Given the description of an element on the screen output the (x, y) to click on. 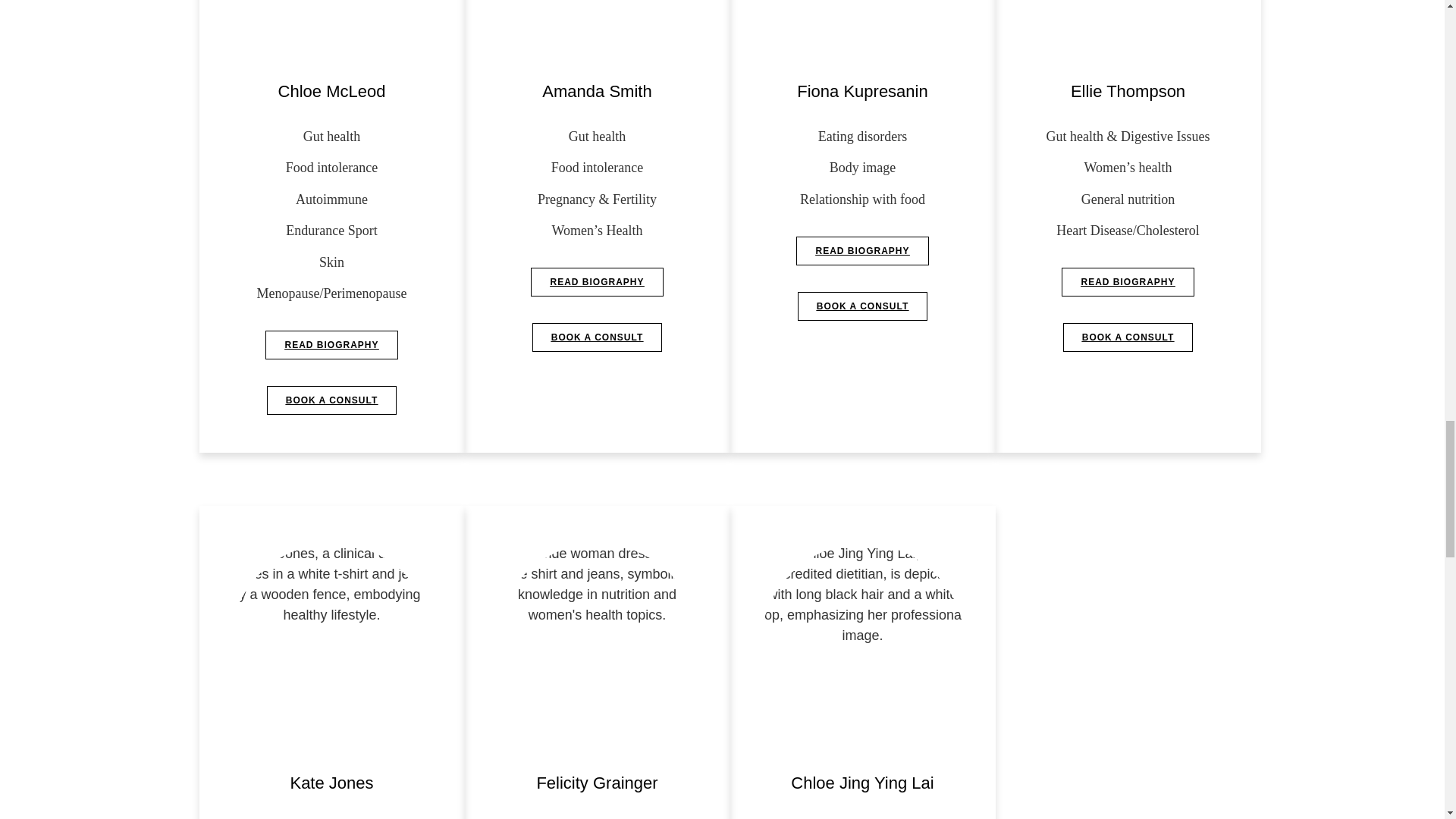
About (861, 645)
About (330, 645)
About (1127, 28)
About (596, 28)
About (330, 28)
About (861, 28)
About (596, 645)
